Given the description of an element on the screen output the (x, y) to click on. 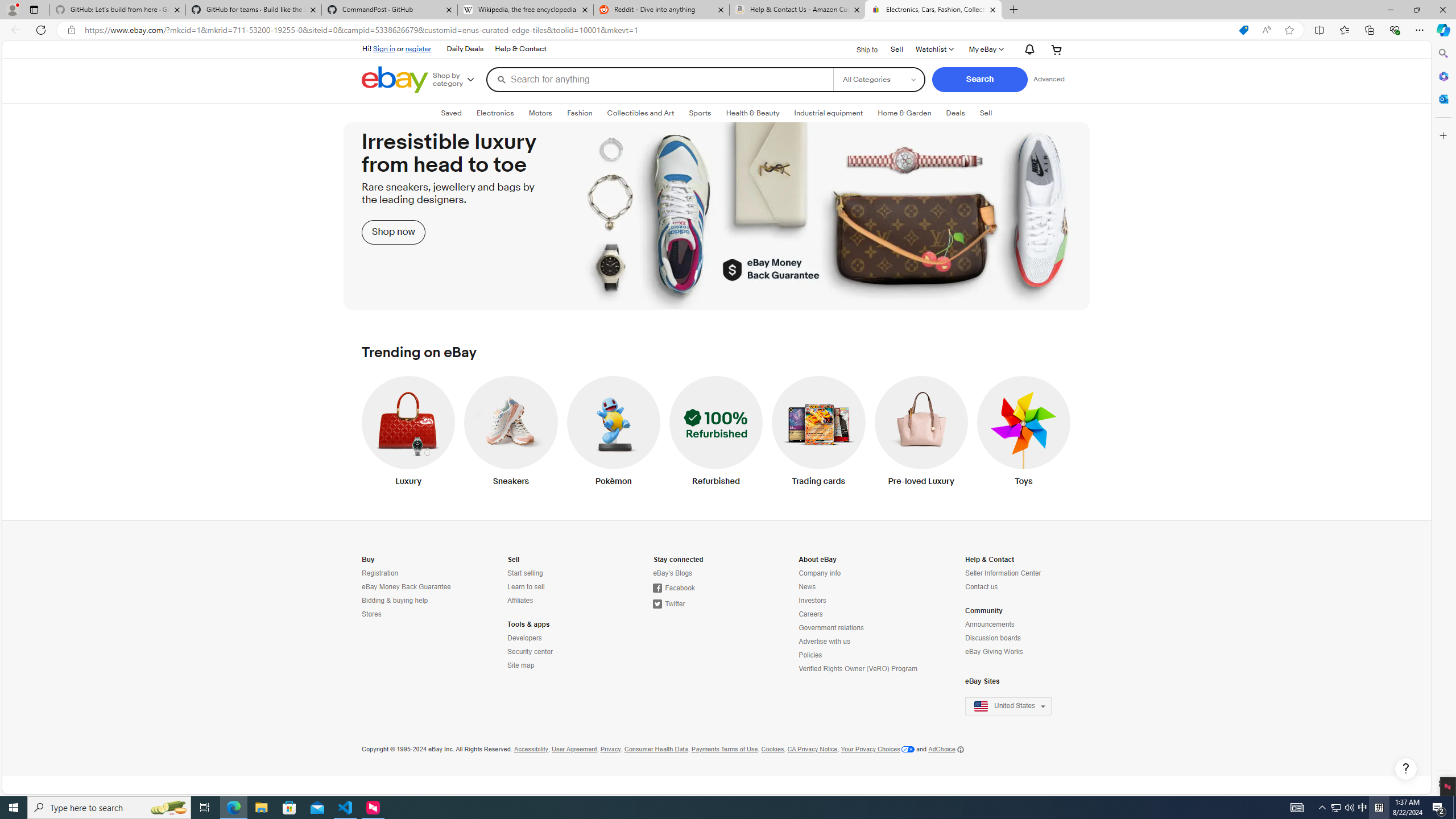
Contact us (981, 587)
Luxury (408, 433)
Luxury (408, 433)
Home & Garden (904, 112)
SellExpand: Sell (986, 112)
Trading cards (818, 433)
Announcements (1015, 624)
Community (984, 611)
Contact us (1015, 587)
Ship to (860, 48)
eBay Giving Works (994, 652)
